Given the description of an element on the screen output the (x, y) to click on. 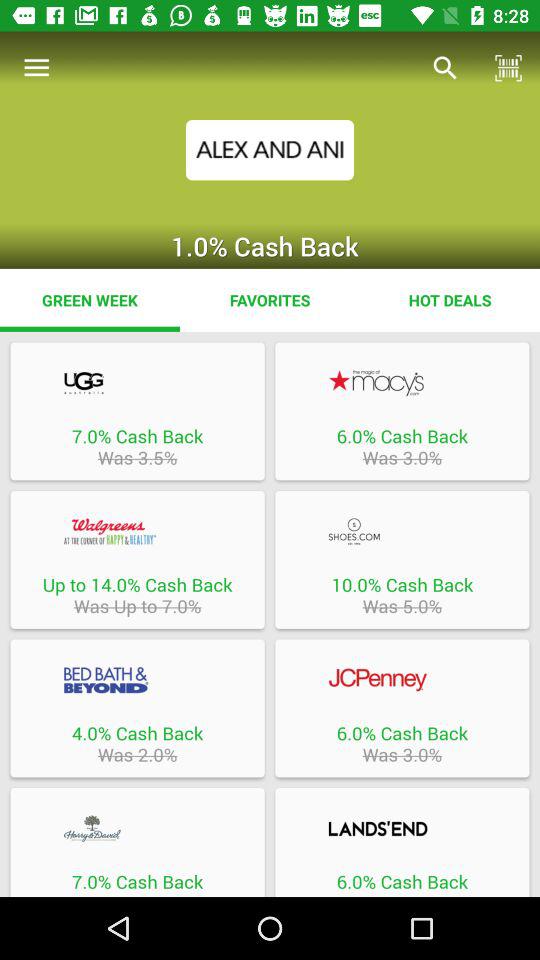
redirect (402, 531)
